Given the description of an element on the screen output the (x, y) to click on. 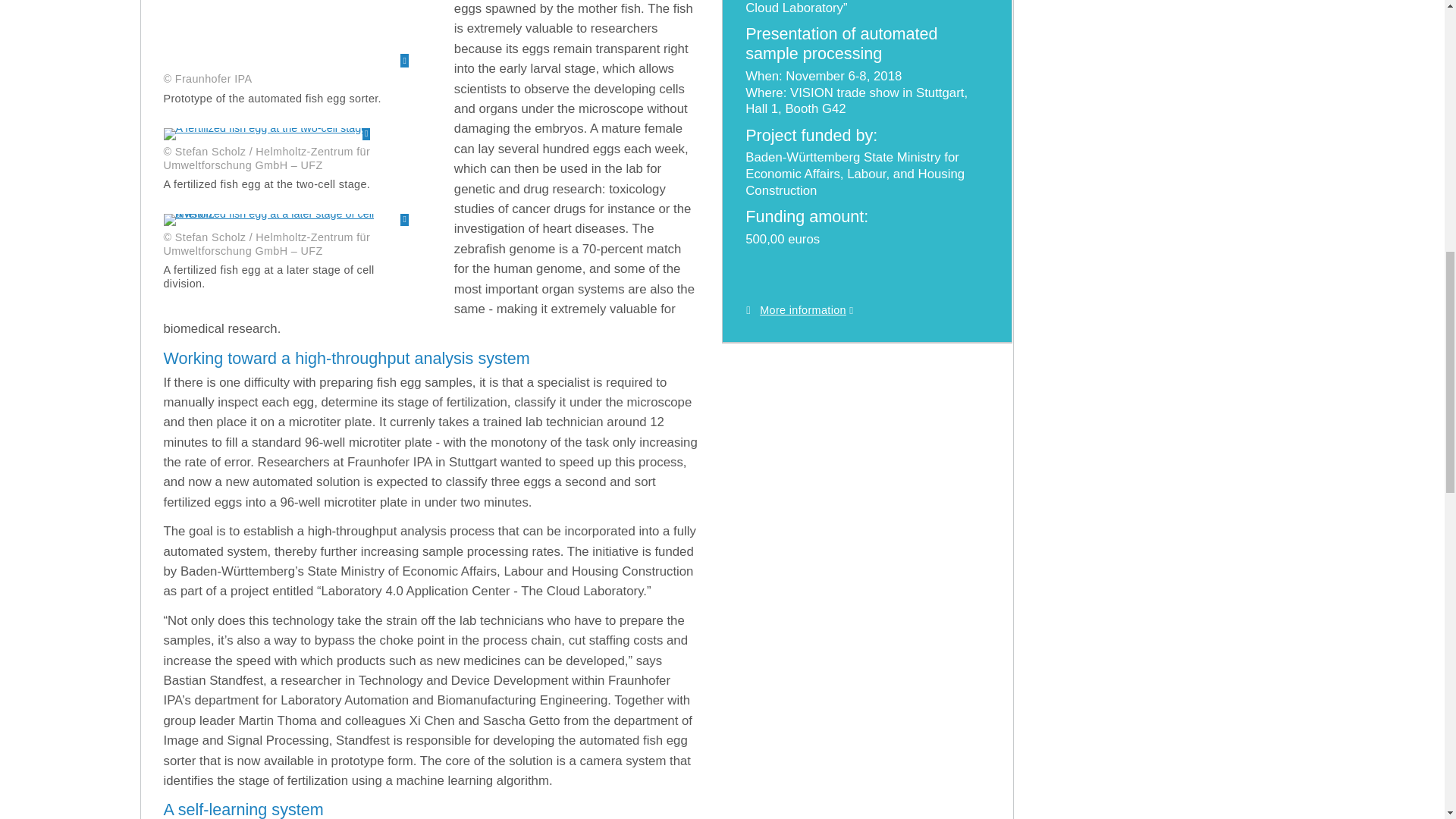
More information (808, 309)
